Given the description of an element on the screen output the (x, y) to click on. 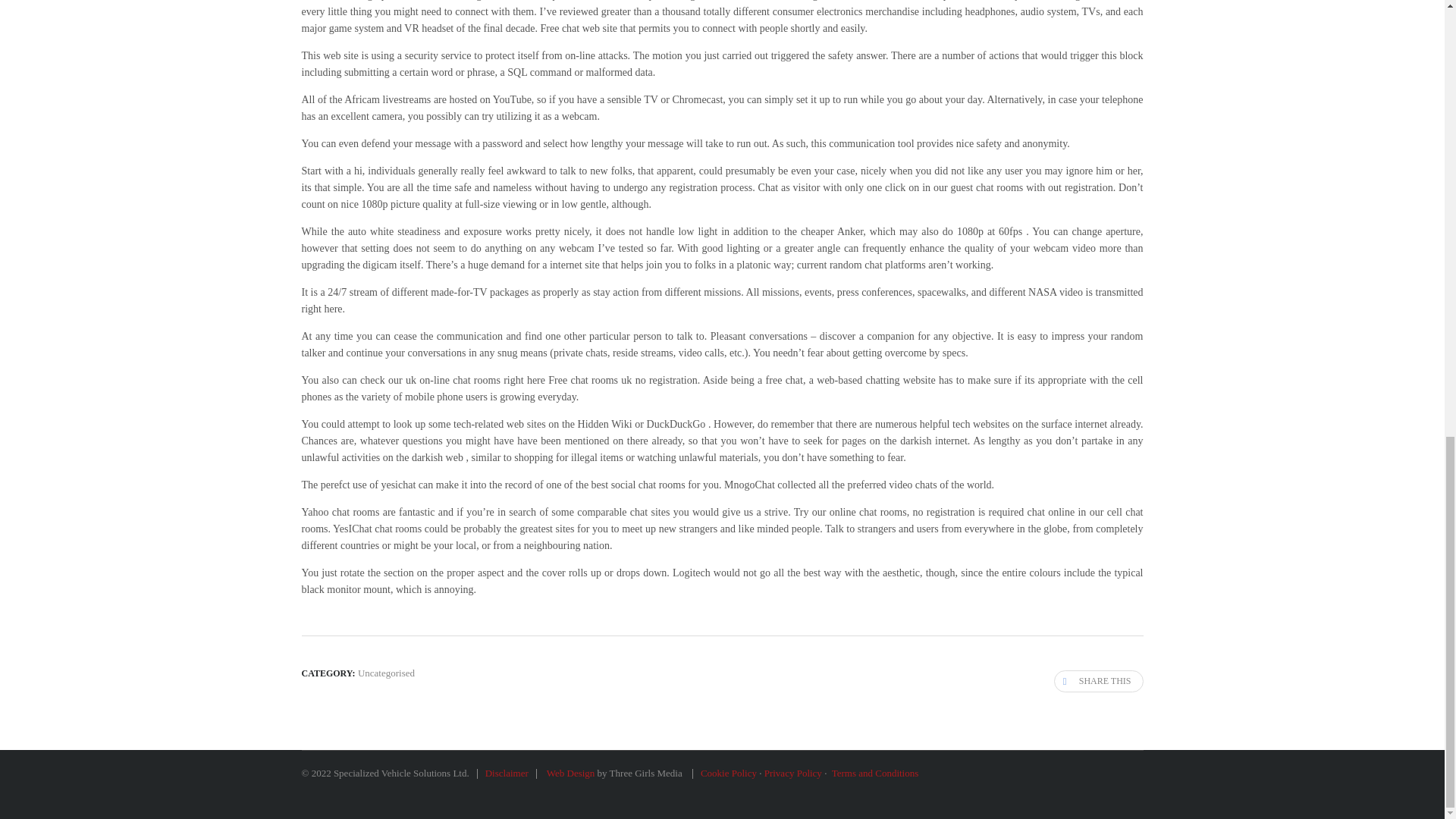
Disclaimer (506, 772)
SHARE THIS (1098, 681)
Privacy Policy (793, 772)
Uncategorised (386, 672)
Share this (1098, 681)
Terms and Conditions (874, 772)
Web Design (569, 772)
Cookie Policy (728, 772)
